Given the description of an element on the screen output the (x, y) to click on. 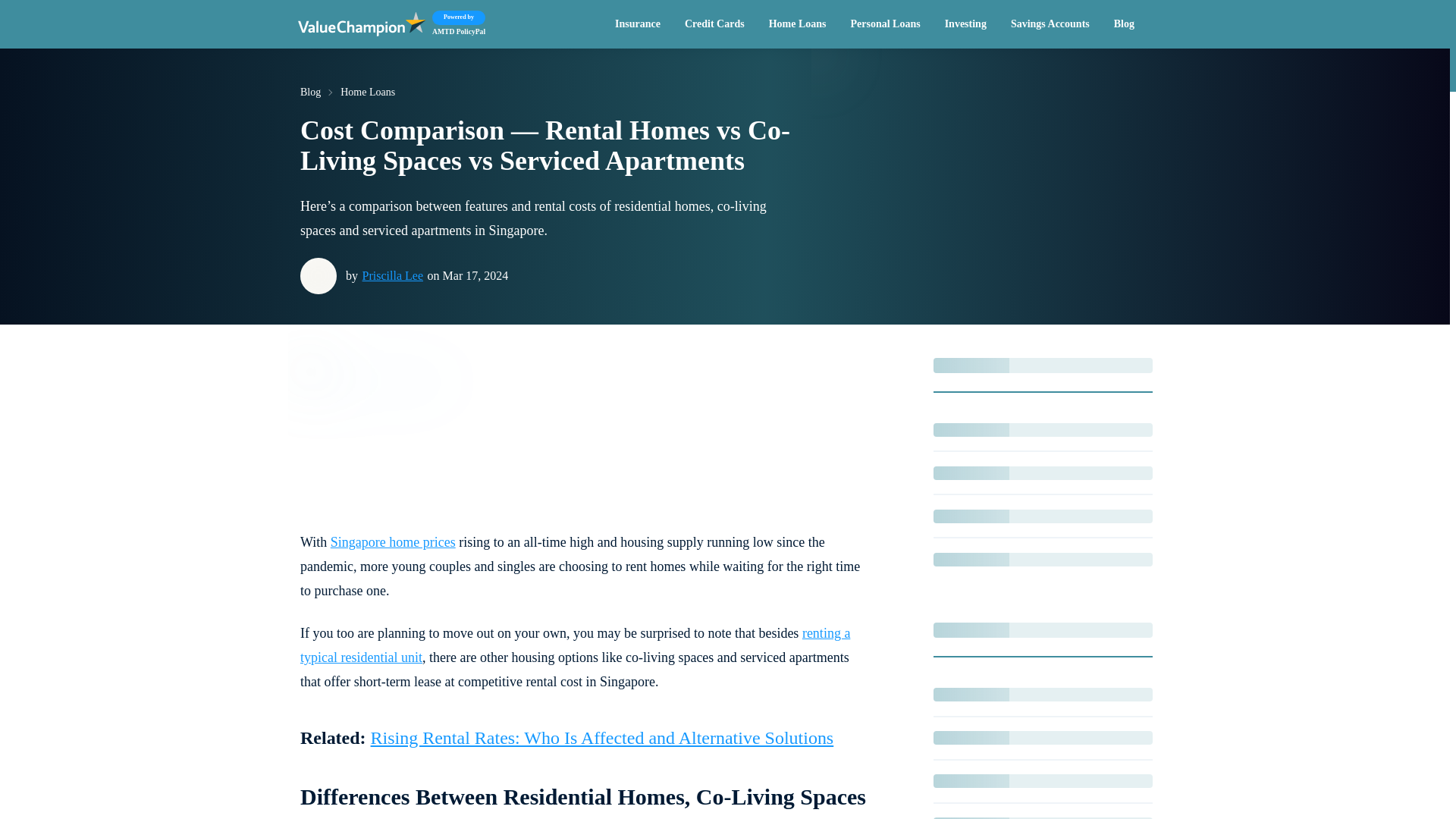
Insurance (448, 23)
Home Loans (637, 24)
Investing (797, 24)
Savings Accounts (965, 24)
Credit Cards (1050, 24)
Blog (714, 24)
Personal Loans (1124, 24)
